Given the description of an element on the screen output the (x, y) to click on. 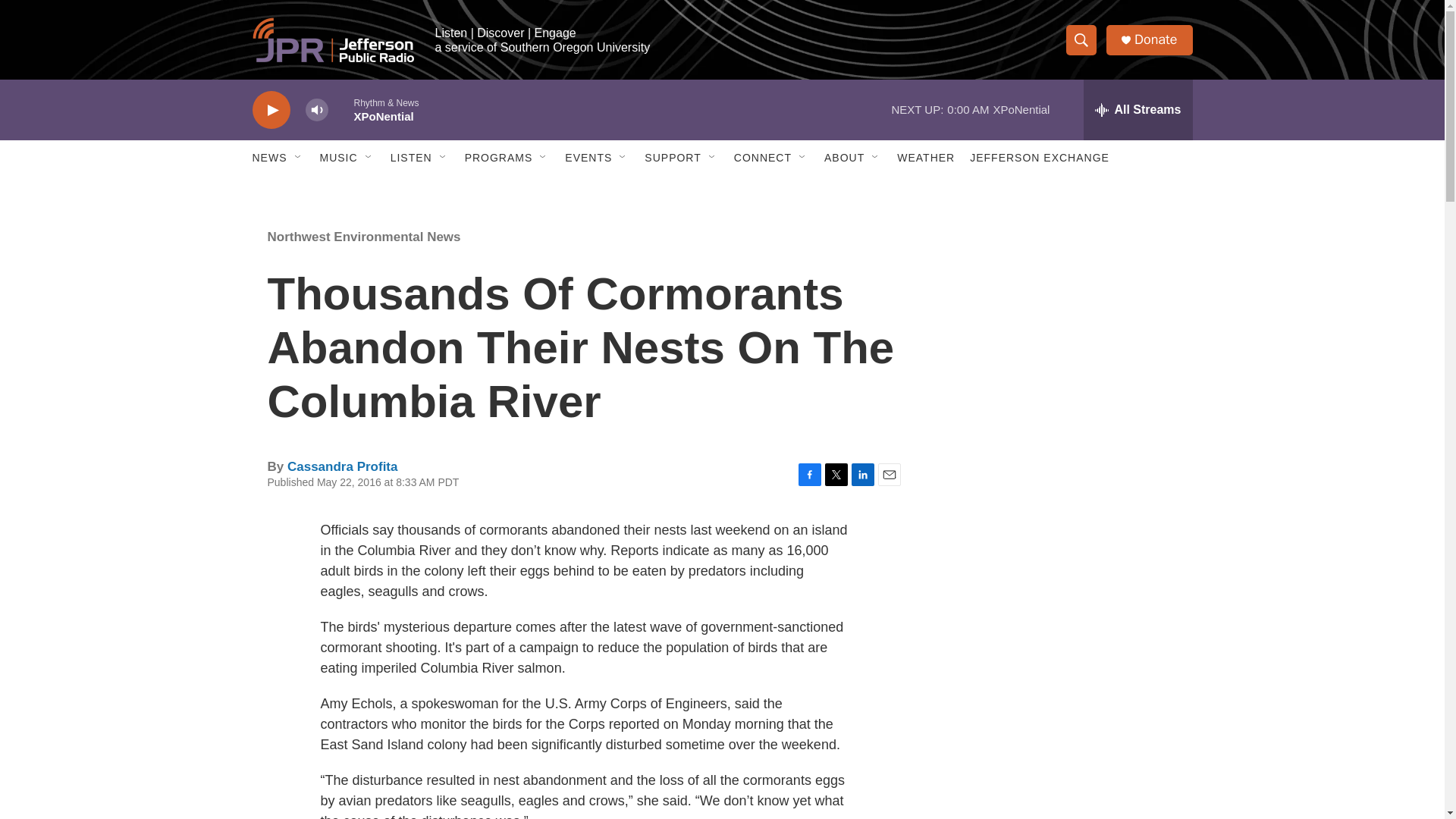
3rd party ad content (1062, 316)
3rd party ad content (1062, 536)
3rd party ad content (1062, 740)
